Given the description of an element on the screen output the (x, y) to click on. 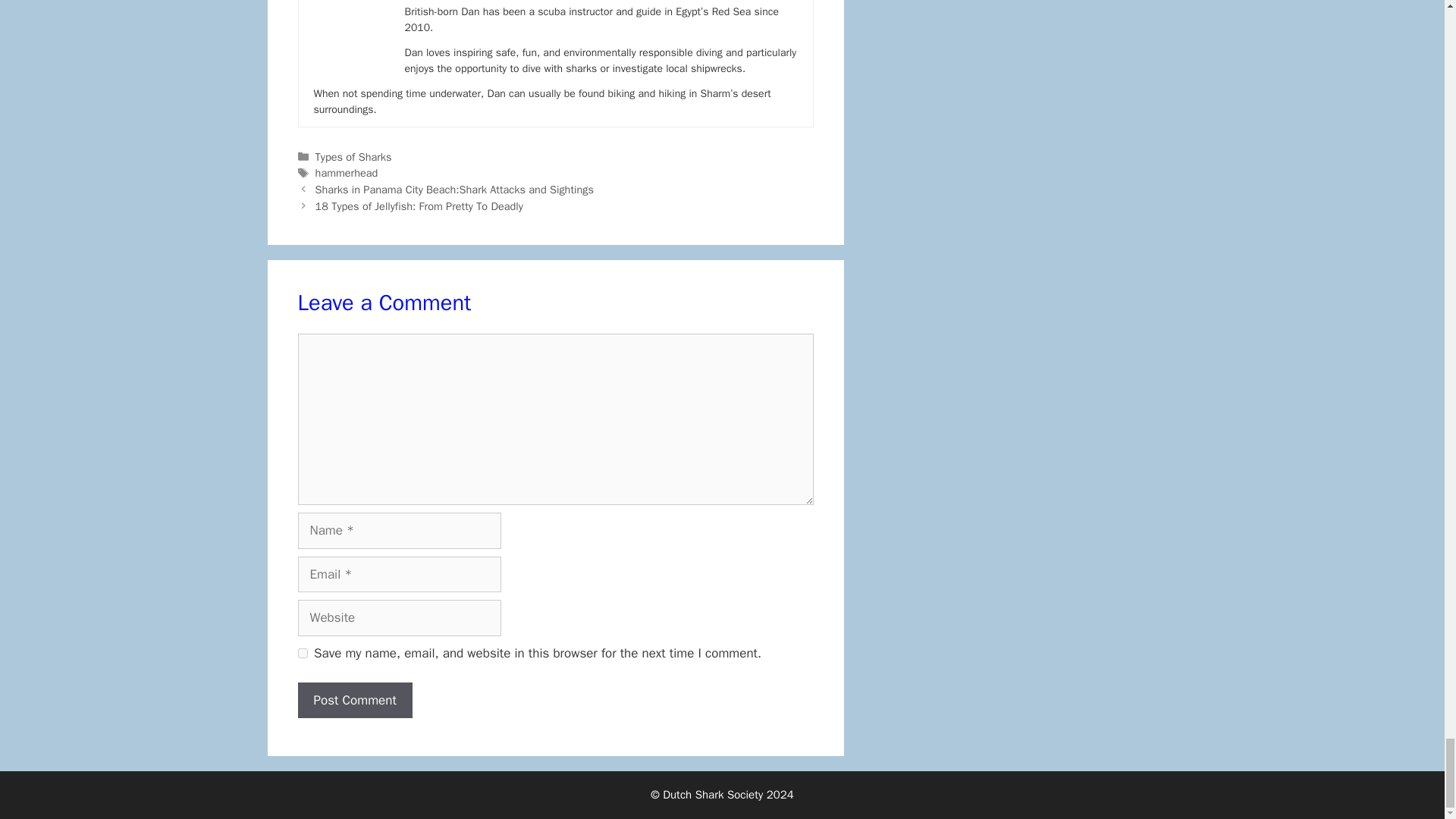
Post Comment (354, 700)
yes (302, 653)
